Given the description of an element on the screen output the (x, y) to click on. 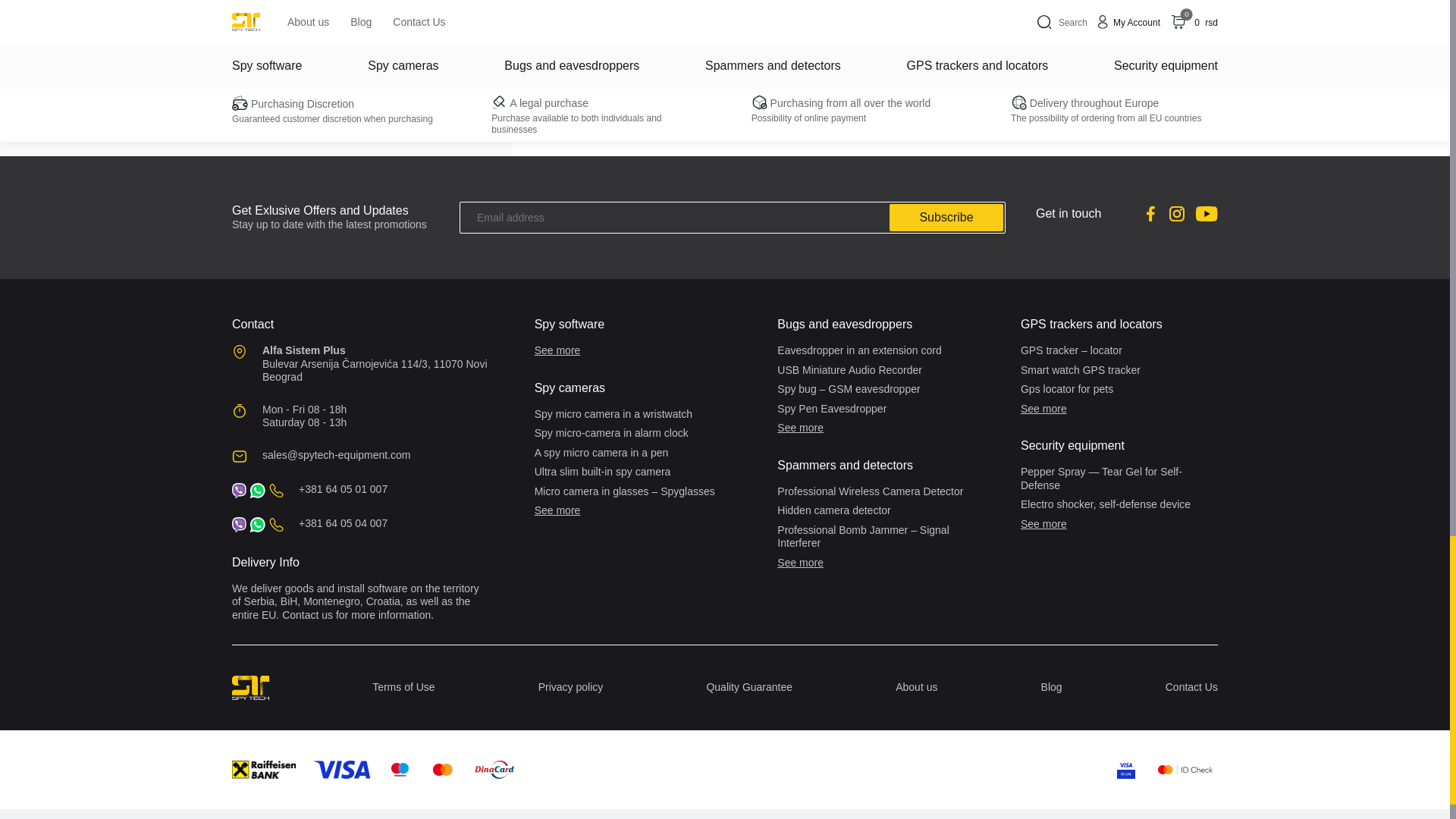
Subscribe (946, 216)
